Given the description of an element on the screen output the (x, y) to click on. 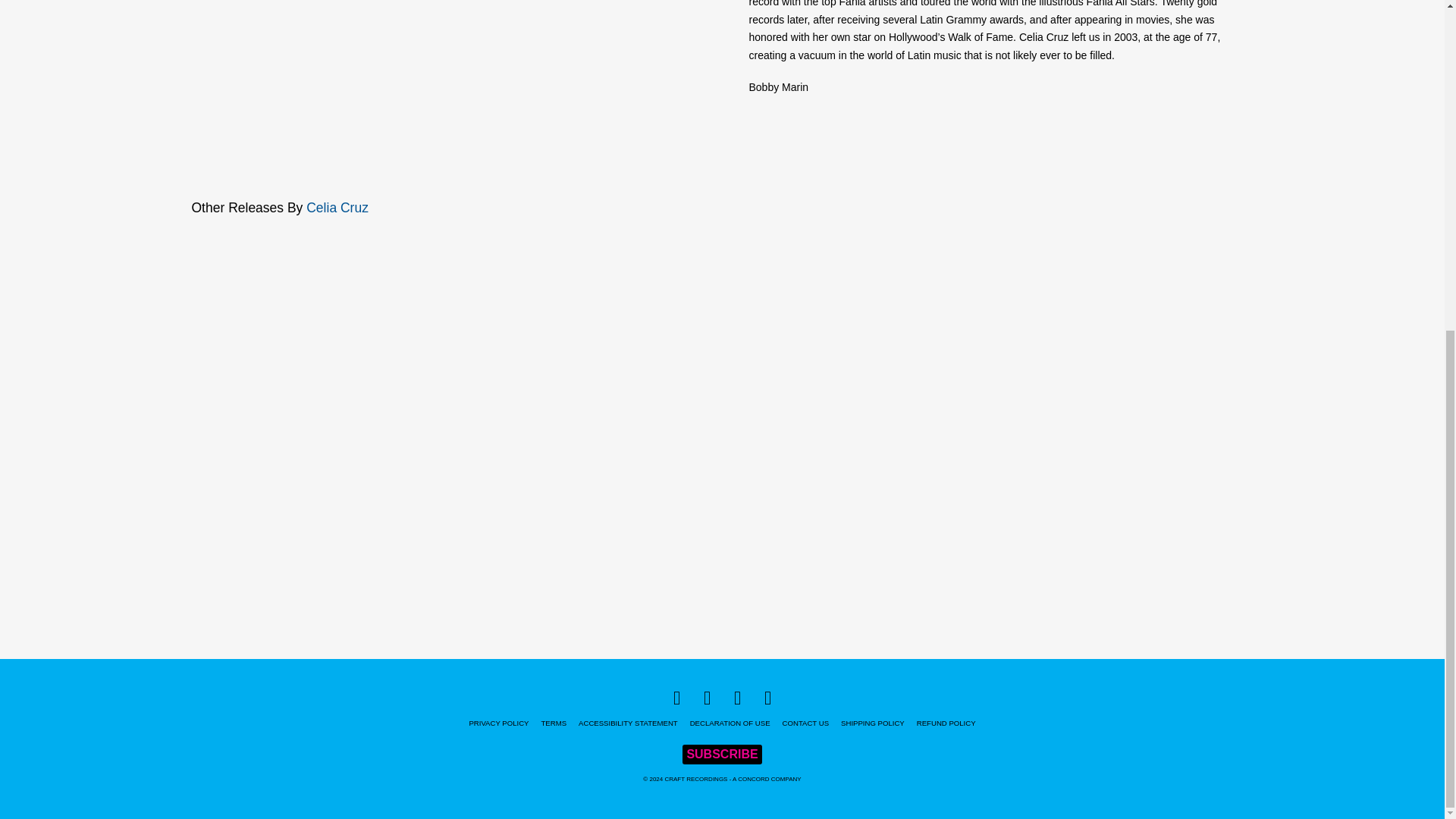
SHIPPING POLICY (872, 723)
Celia Cruz (336, 207)
PRIVACY POLICY (498, 723)
TERMS (553, 723)
ACCESSIBILITY STATEMENT (628, 723)
CONTACT US (805, 723)
DECLARATION OF USE (730, 723)
